Given the description of an element on the screen output the (x, y) to click on. 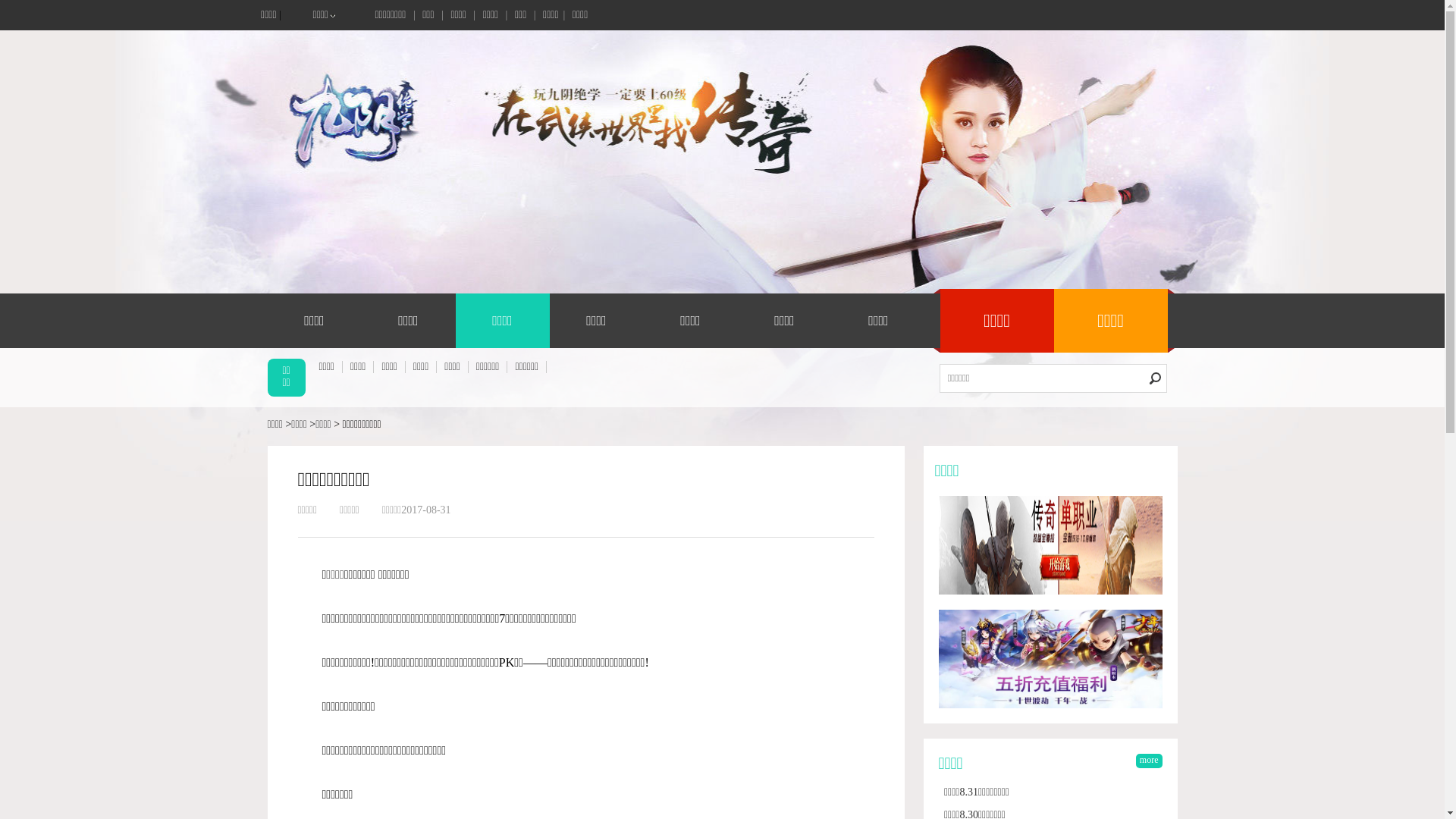
more Element type: text (1148, 760)
